Given the description of an element on the screen output the (x, y) to click on. 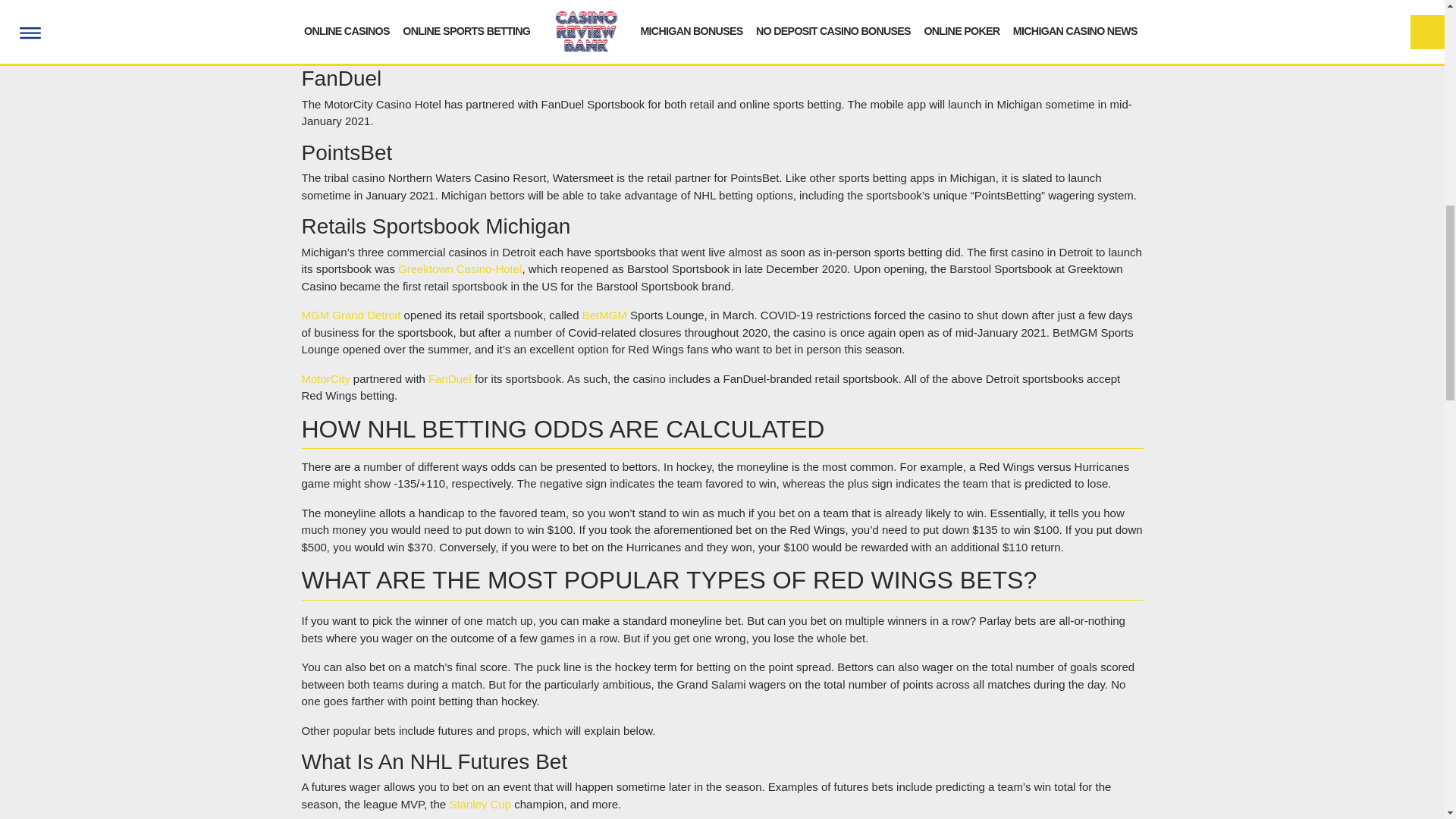
Greektown Casino-Hotel (459, 268)
MotorCity (325, 378)
BetMGM (604, 314)
FanDuel (449, 378)
MGM Grand Detroit (351, 314)
